Given the description of an element on the screen output the (x, y) to click on. 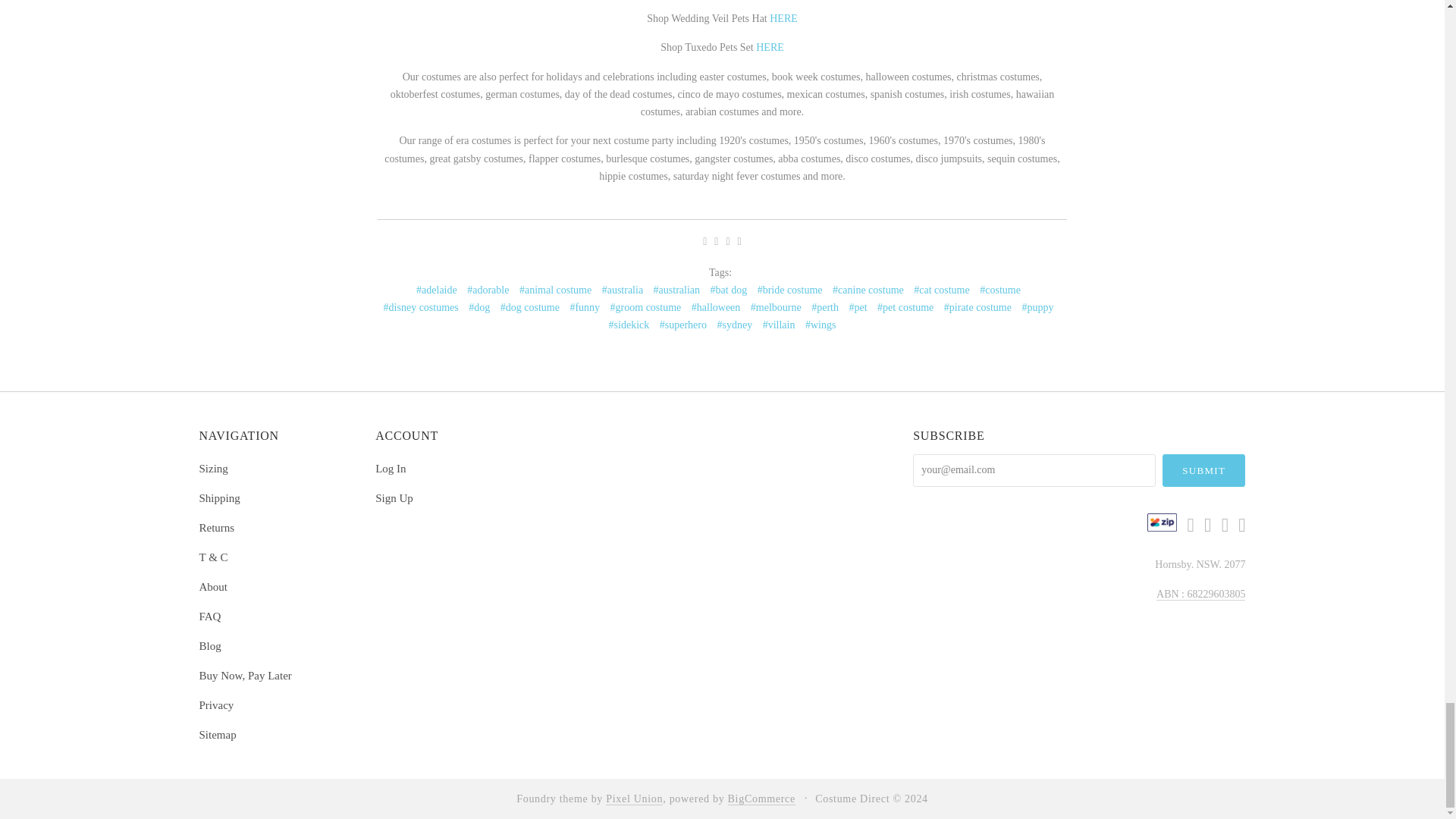
Submit (1203, 470)
